Given the description of an element on the screen output the (x, y) to click on. 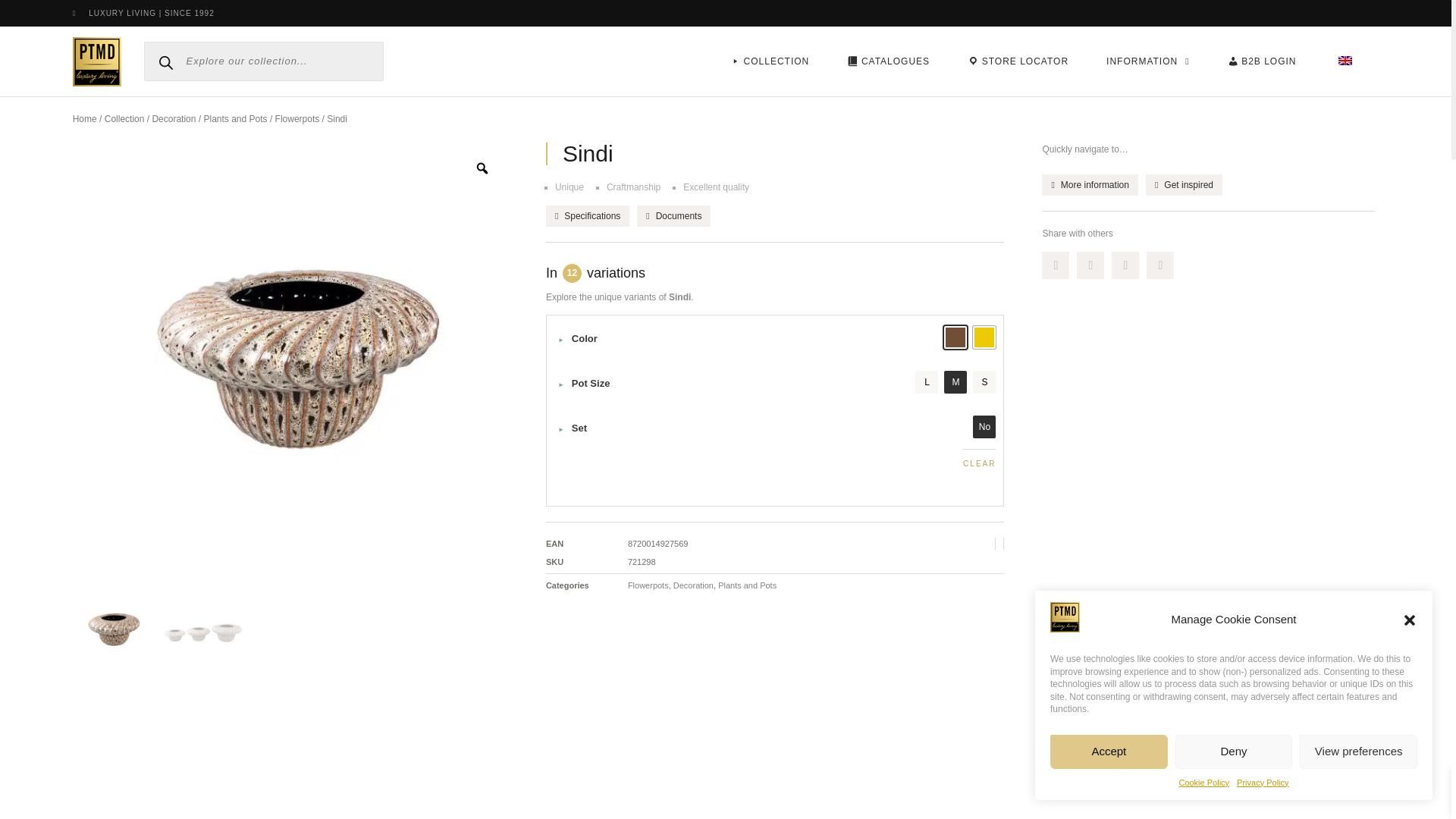
L (926, 382)
CATALOGUES (888, 61)
Deny (1233, 750)
View preferences (1358, 750)
Accept (1108, 750)
721298-9 (203, 629)
721298-9 (36, 360)
Privacy Policy (1262, 782)
721298 (112, 629)
INFORMATION (1147, 61)
Yellow (983, 336)
COLLECTION (769, 61)
STORE LOCATOR (1018, 61)
B2B LOGIN (1262, 61)
